Given the description of an element on the screen output the (x, y) to click on. 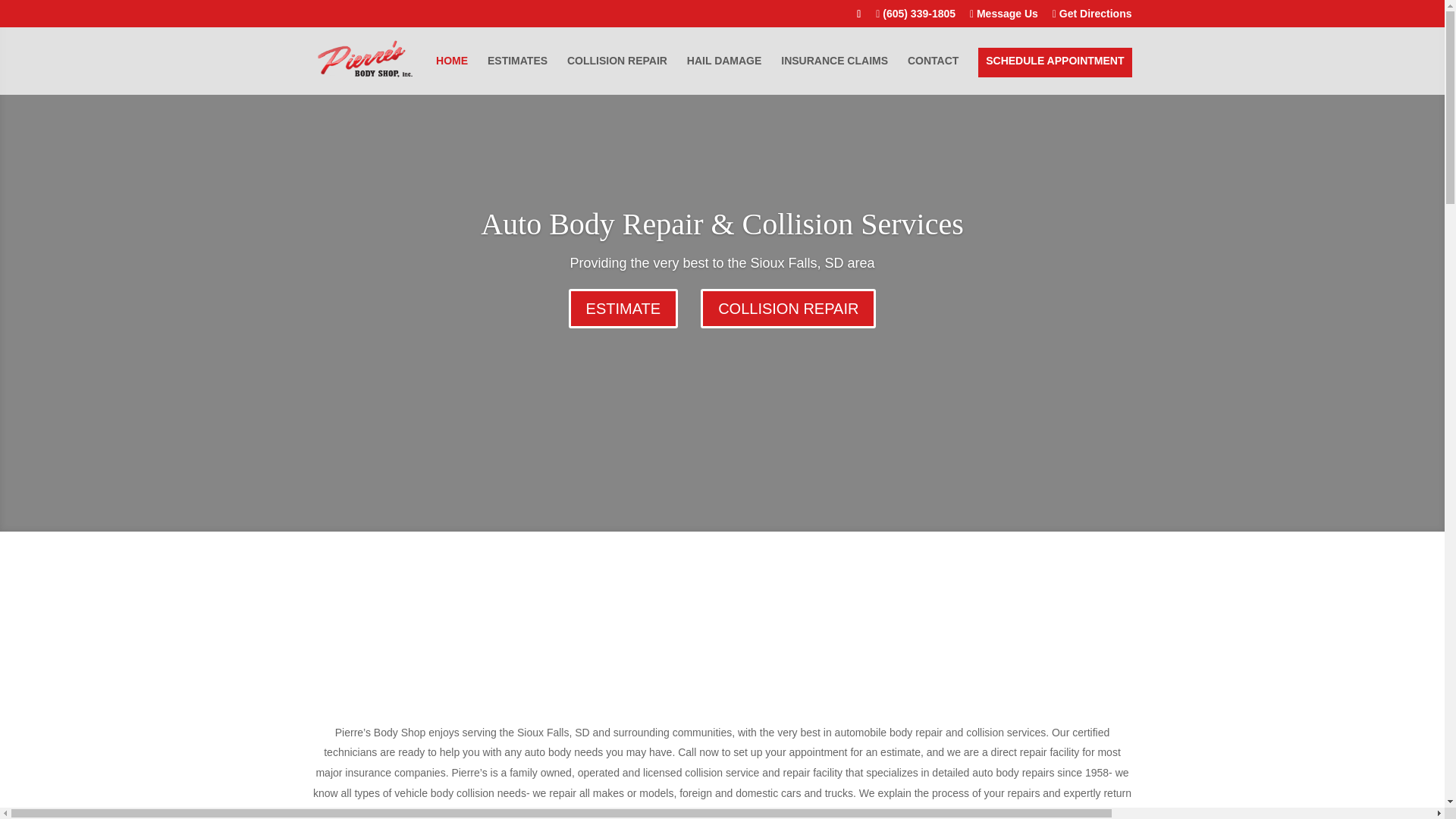
CONTACT (932, 75)
SCHEDULE APPOINTMENT (1054, 61)
ESTIMATES (517, 75)
Message Us (1003, 17)
INSURANCE CLAIMS (834, 75)
Get Directions (1092, 17)
HAIL DAMAGE (724, 75)
COLLISION REPAIR (616, 75)
